Given the description of an element on the screen output the (x, y) to click on. 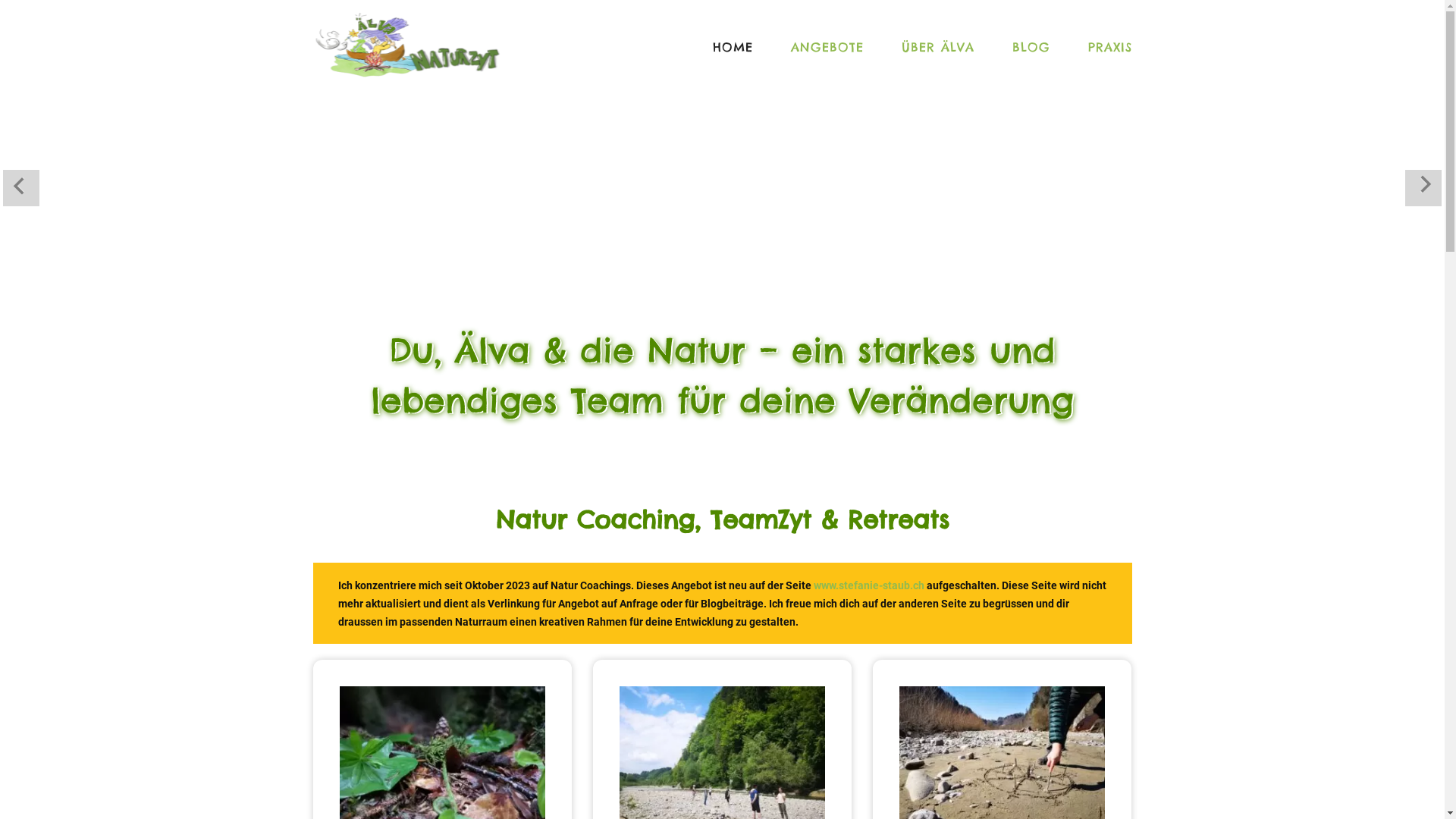
HOME Element type: text (732, 46)
www.stefanie-staub.ch Element type: text (868, 585)
ANGEBOTE Element type: text (826, 46)
PRAXIS Element type: text (1100, 46)
BLOG Element type: text (1031, 46)
